Given the description of an element on the screen output the (x, y) to click on. 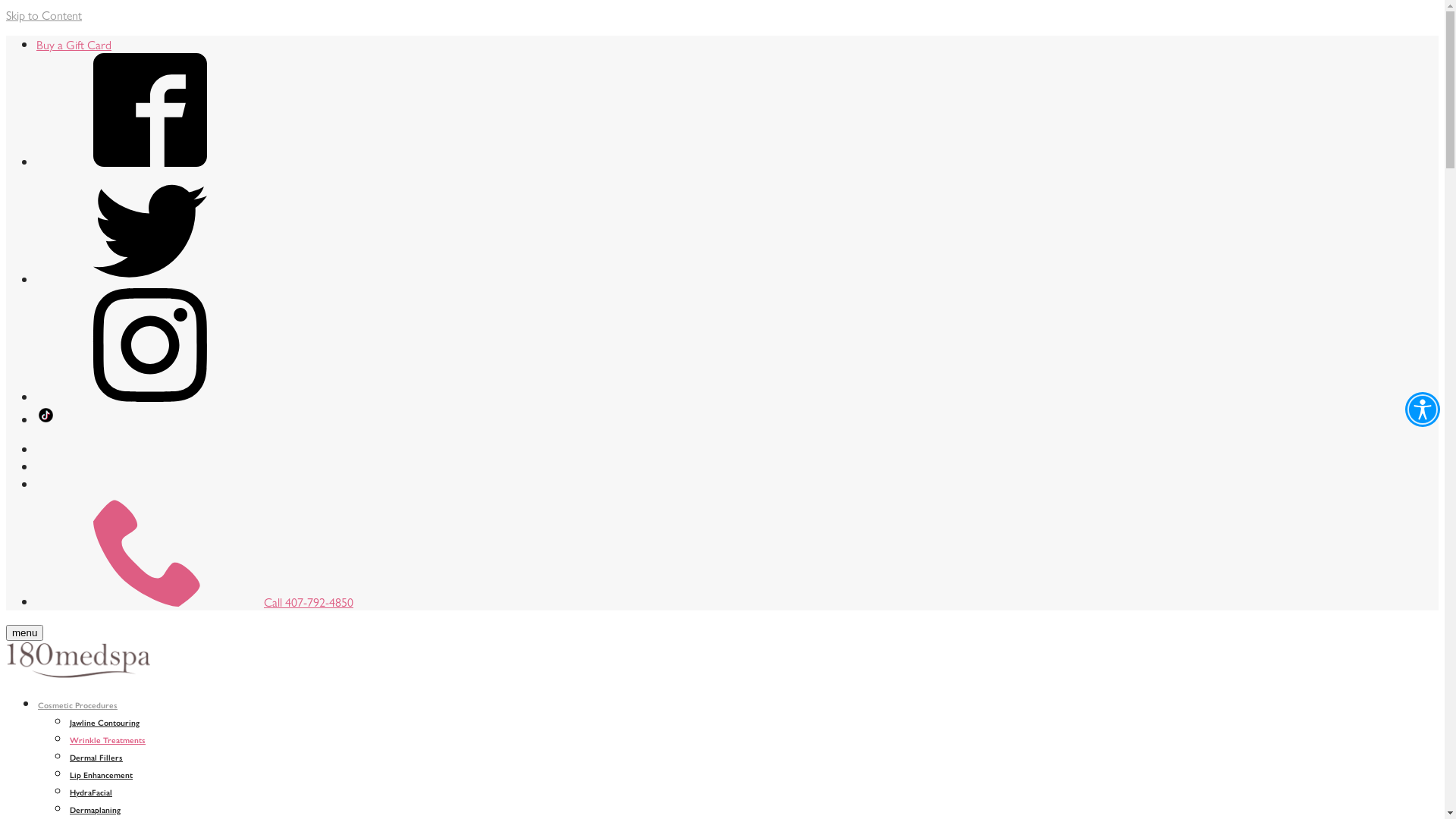
Skip to Content Element type: text (43, 14)
Buy a Gift Card Element type: text (73, 44)
Wrinkle Treatments Element type: text (107, 739)
Jawline Contouring Element type: text (104, 722)
Lip Enhancement Element type: text (100, 774)
Dermal Fillers Element type: text (95, 756)
Call 407-792-4850 Element type: text (194, 601)
HydraFacial Element type: text (90, 791)
menu Element type: text (24, 632)
Cosmetic Procedures Element type: text (77, 704)
Dermaplaning Element type: text (94, 809)
